Given the description of an element on the screen output the (x, y) to click on. 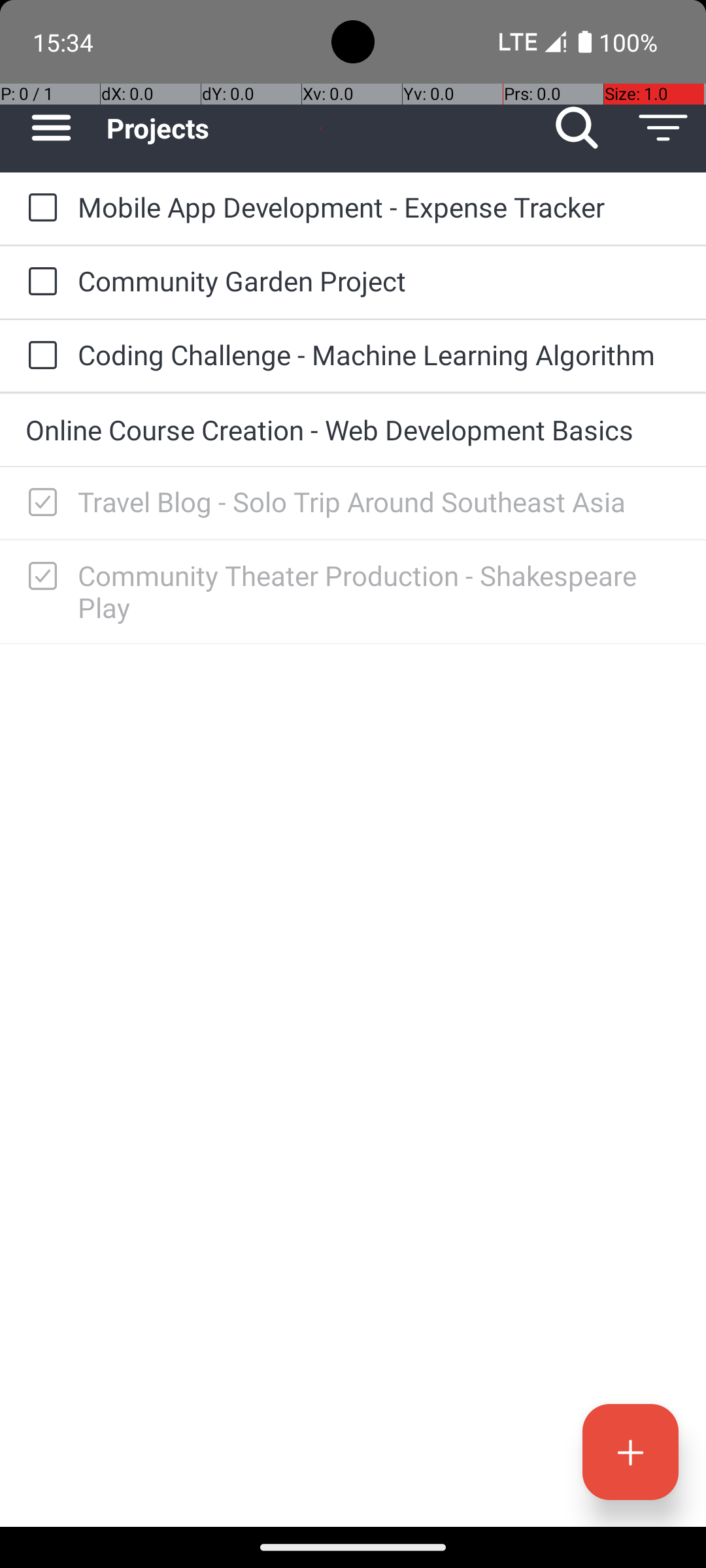
to-do: Mobile App Development - Expense Tracker Element type: android.widget.CheckBox (38, 208)
Mobile App Development - Expense Tracker Element type: android.widget.TextView (378, 206)
to-do: Community Garden Project Element type: android.widget.CheckBox (38, 282)
to-do: Coding Challenge - Machine Learning Algorithm Element type: android.widget.CheckBox (38, 356)
to-do: Travel Blog - Solo Trip Around Southeast Asia Element type: android.widget.CheckBox (38, 503)
Travel Blog - Solo Trip Around Southeast Asia Element type: android.widget.TextView (378, 501)
to-do: Community Theater Production - Shakespeare Play Element type: android.widget.CheckBox (38, 576)
Community Theater Production - Shakespeare Play Element type: android.widget.TextView (378, 590)
